Given the description of an element on the screen output the (x, y) to click on. 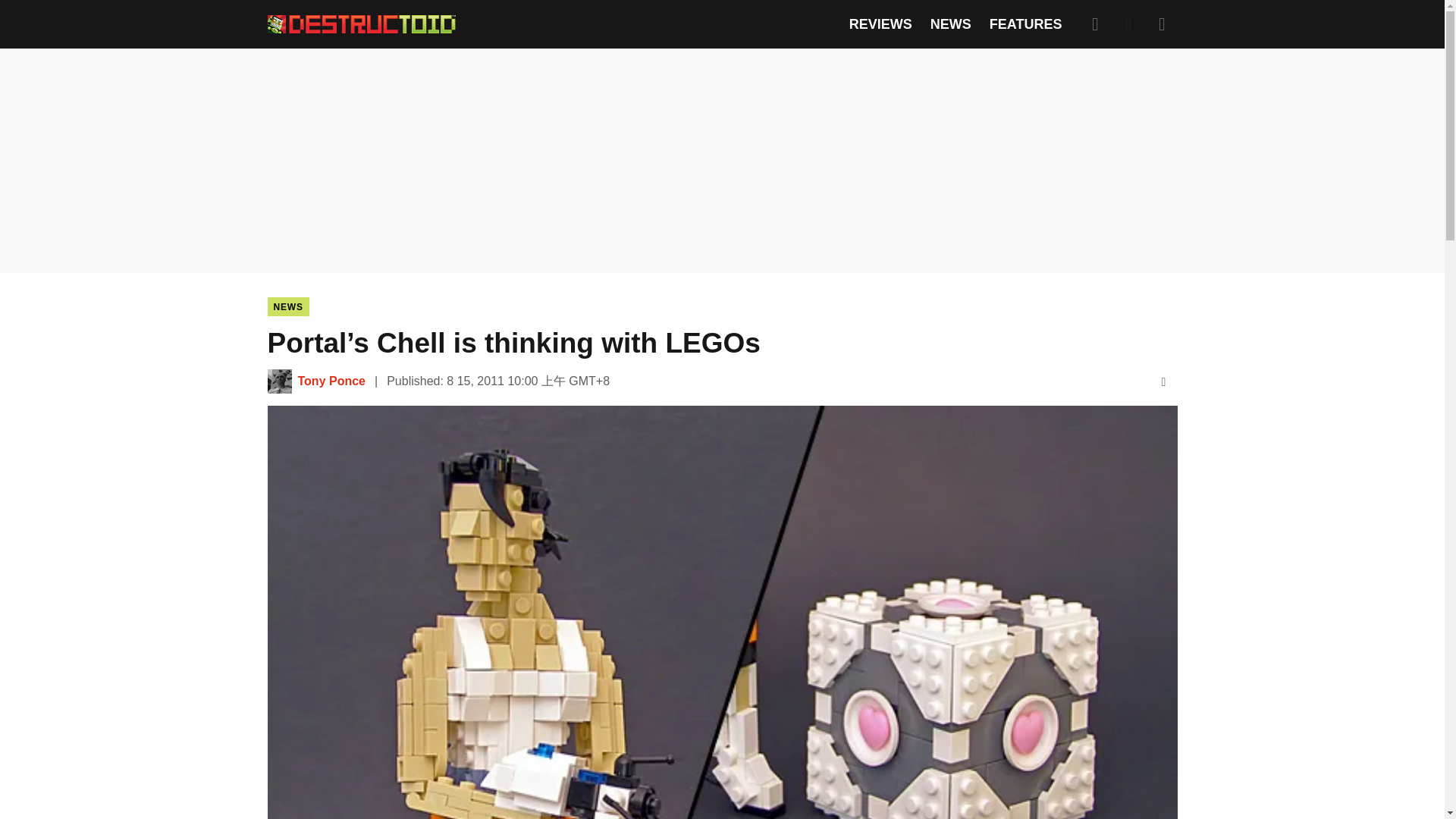
REVIEWS (880, 23)
Expand Menu (1161, 24)
NEWS (287, 306)
NEWS (950, 23)
FEATURES (1026, 23)
Dark Mode (1127, 24)
Search (1094, 24)
